Given the description of an element on the screen output the (x, y) to click on. 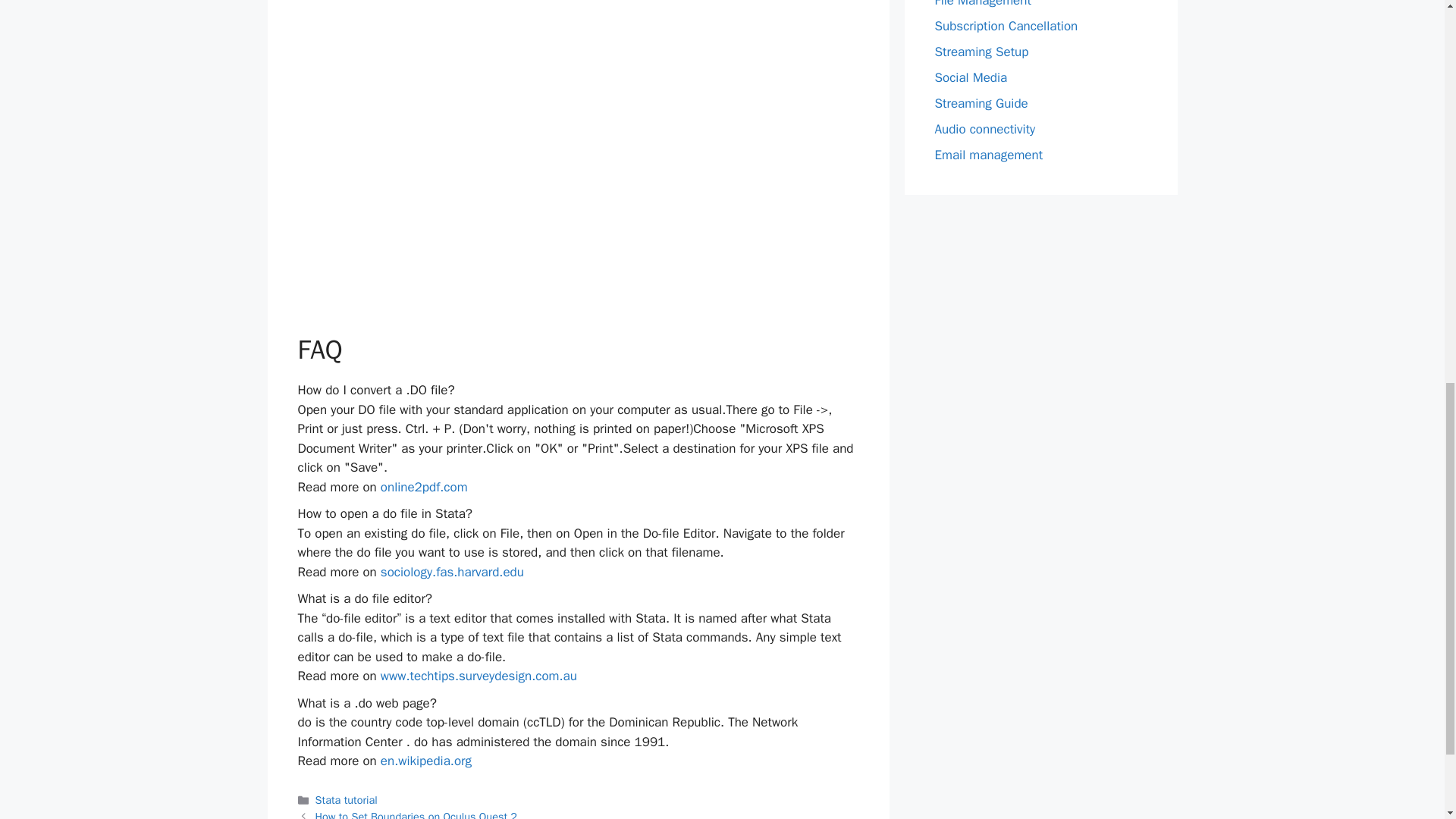
www.techtips.surveydesign.com.au (478, 675)
Subscription Cancellation (1005, 26)
en.wikipedia.org (425, 760)
File Management (982, 4)
Email management (988, 154)
Streaming Guide (980, 103)
online2pdf.com (423, 487)
Stata tutorial (346, 799)
Audio connectivity (984, 129)
How to Set Boundaries on Oculus Quest 2 (415, 814)
sociology.fas.harvard.edu (452, 571)
Social Media (970, 77)
Streaming Setup (980, 51)
